Given the description of an element on the screen output the (x, y) to click on. 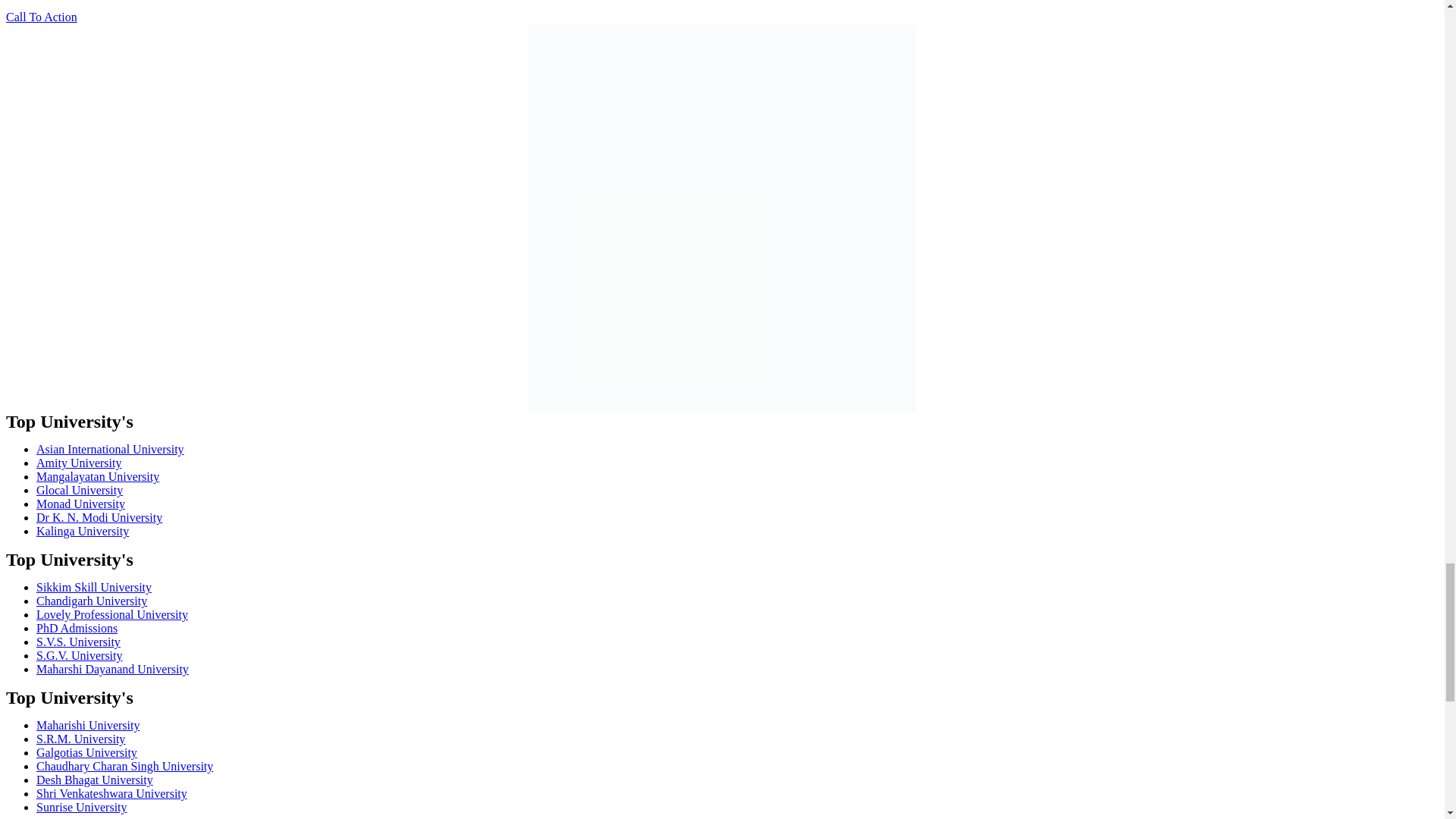
Kalinga University (82, 530)
Glocal University (79, 490)
Dr K. N. Modi University (98, 517)
Mangalayatan University (97, 476)
Asian International University (110, 449)
Call To Action (41, 16)
Monad University (80, 503)
Amity University (78, 462)
